Given the description of an element on the screen output the (x, y) to click on. 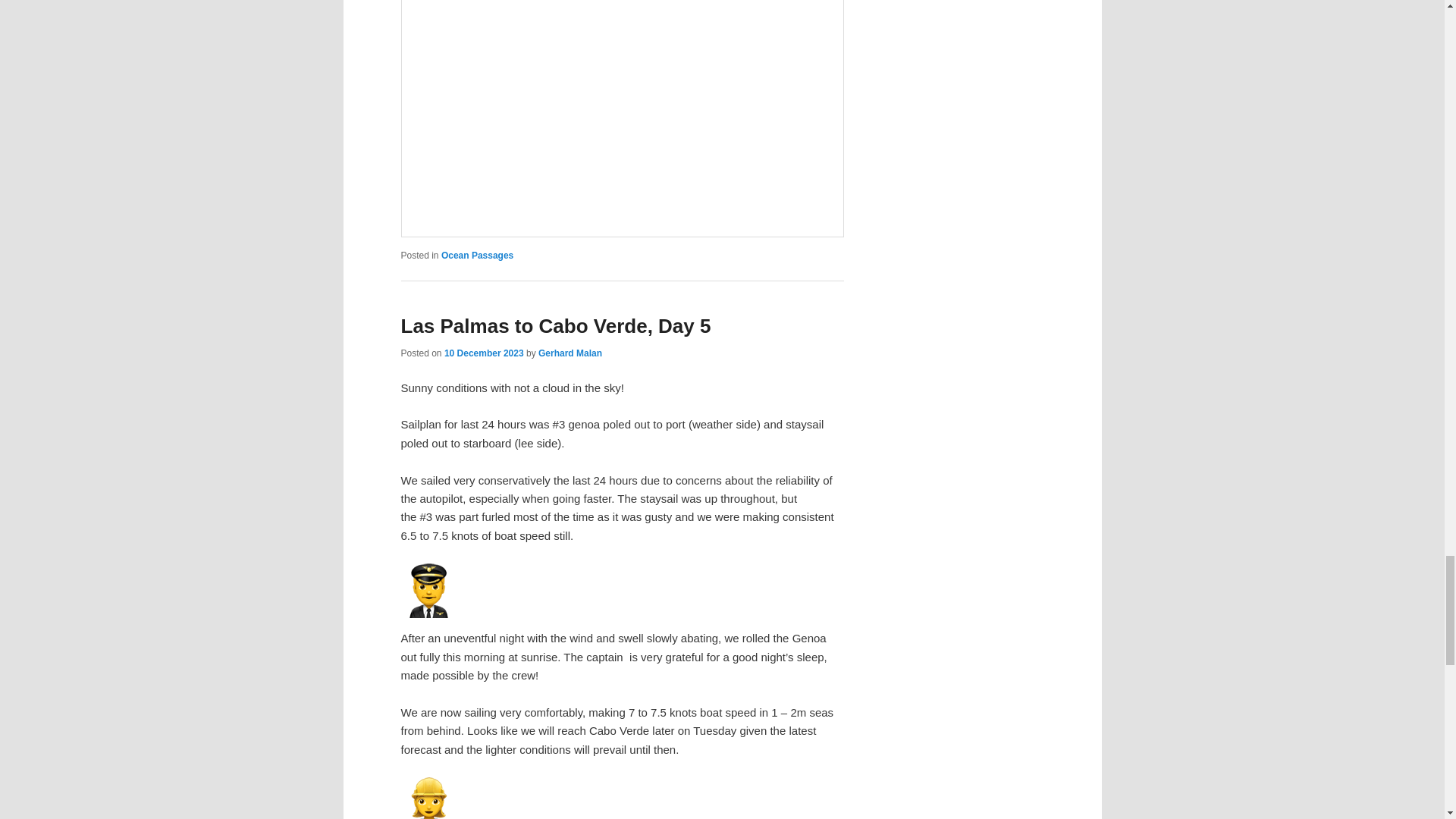
Ocean Passages (477, 255)
10 December 2023 (484, 353)
Gerhard Malan (570, 353)
View all posts by Gerhard Malan (570, 353)
Las Palmas to Cabo Verde, Day 5 (555, 325)
8:11 PM (484, 353)
